Given the description of an element on the screen output the (x, y) to click on. 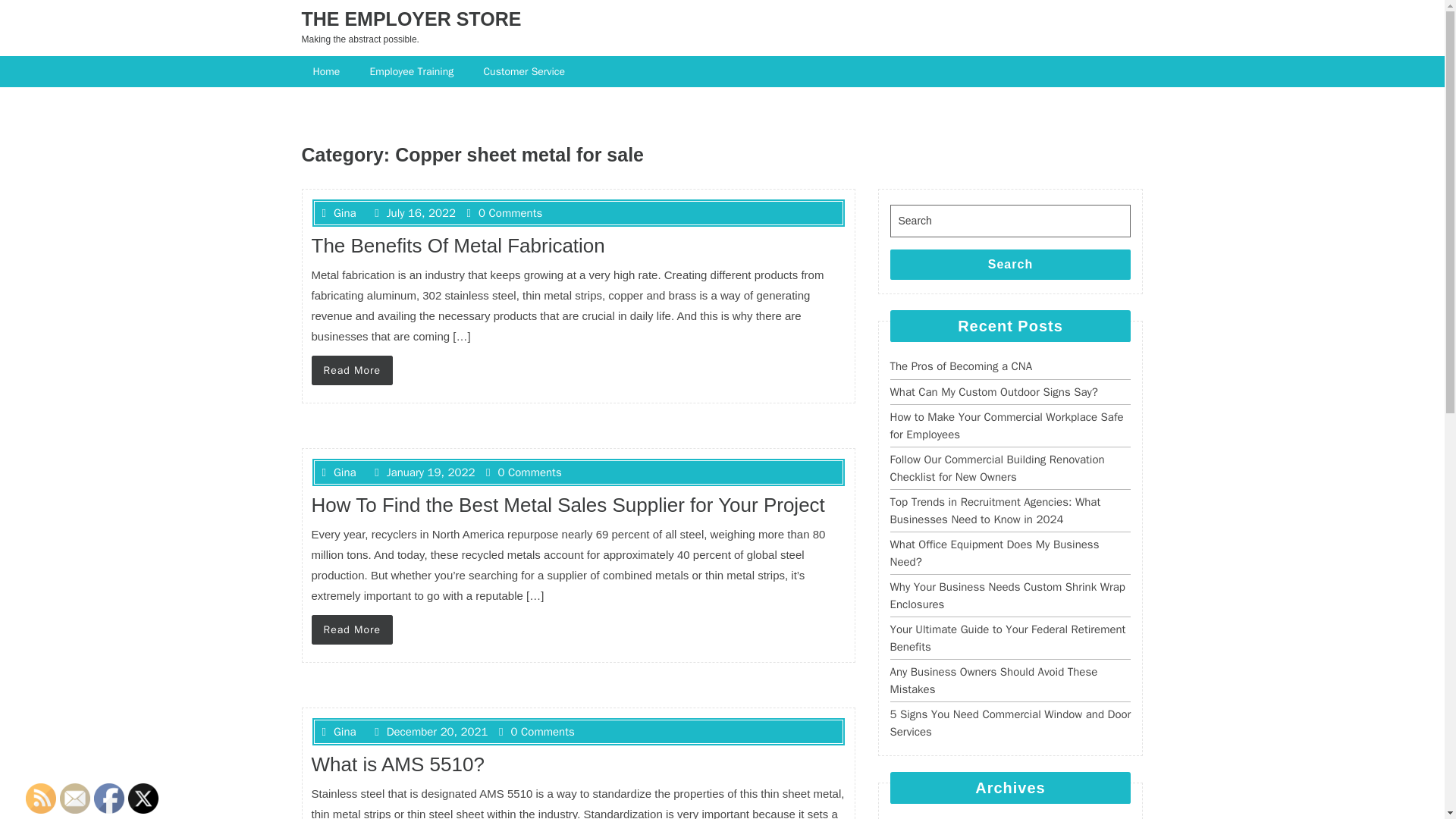
Customer Service (525, 71)
Facebook (108, 797)
What Can My Custom Outdoor Signs Say? (993, 391)
0 Comments (505, 213)
Gina (338, 213)
0 Comments (537, 731)
Follow by Email (74, 797)
Read More (352, 369)
Any Business Owners Should Avoid These Mistakes (993, 680)
The Pros of Becoming a CNA (960, 366)
Read More (352, 629)
0 Comments (524, 472)
What Office Equipment Does My Business Need? (994, 552)
Gina (338, 472)
